Given the description of an element on the screen output the (x, y) to click on. 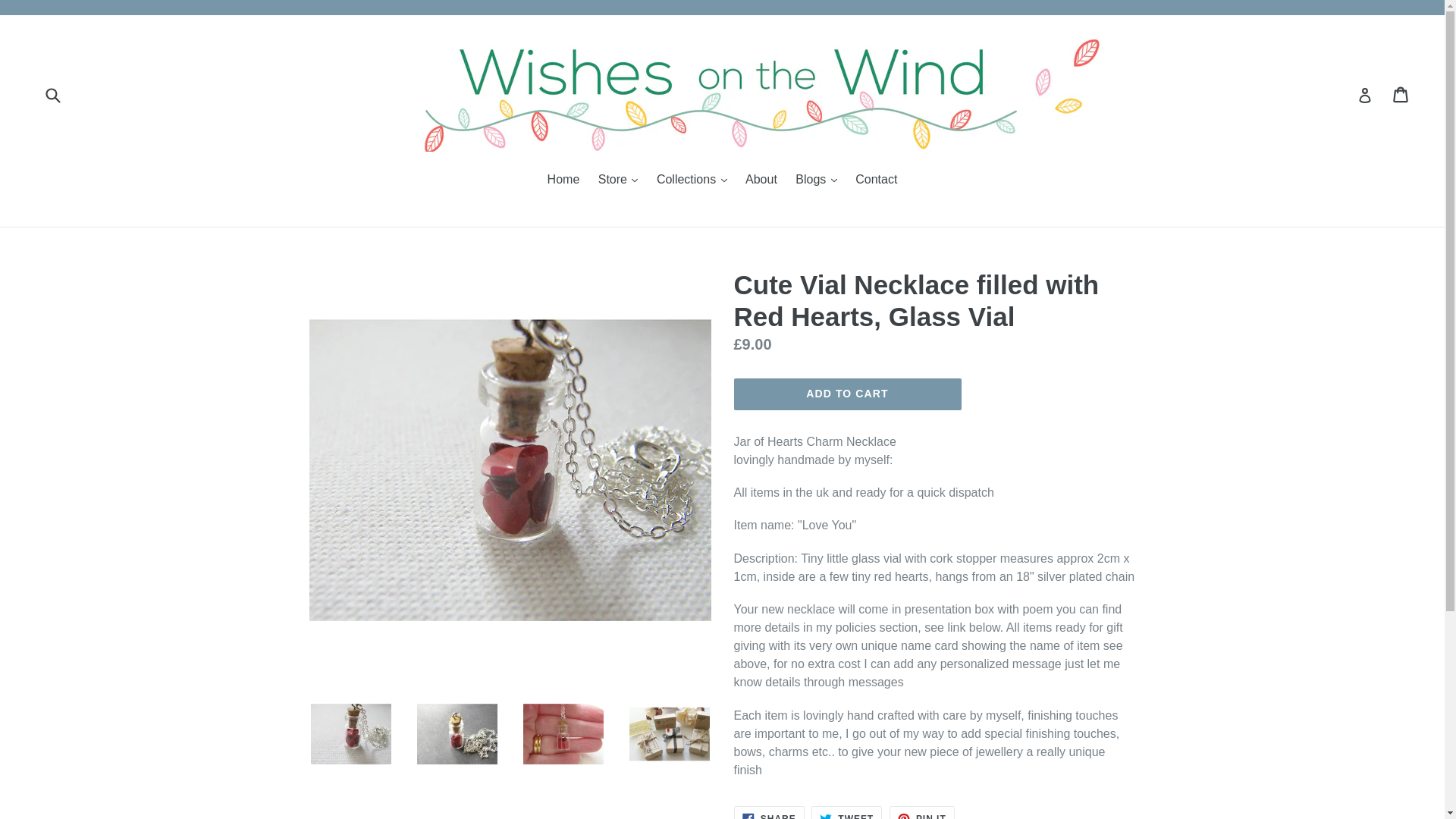
Share on Facebook (769, 812)
Pin on Pinterest (922, 812)
Tweet on Twitter (846, 812)
Home (564, 180)
